Given the description of an element on the screen output the (x, y) to click on. 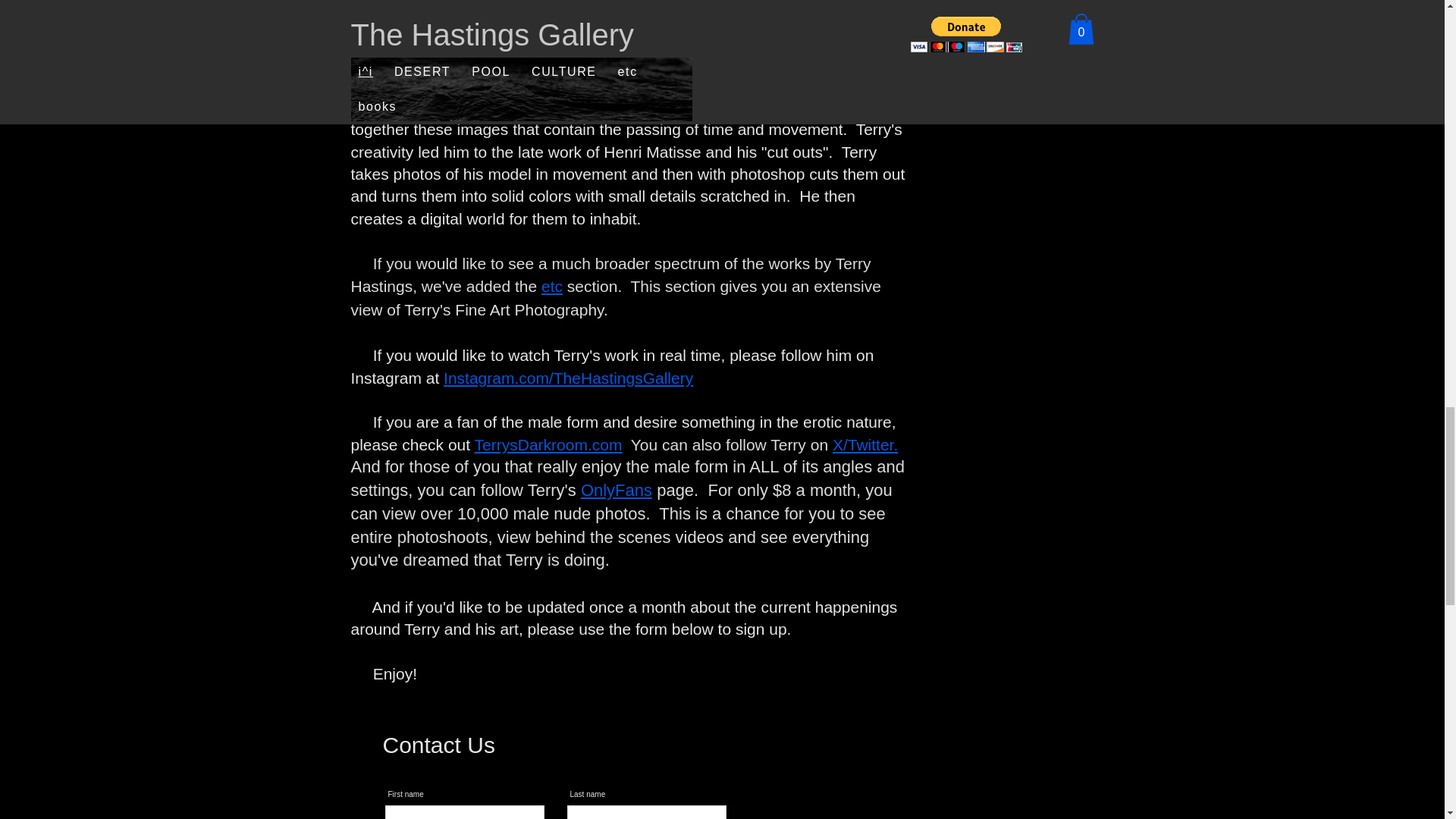
TerrysDarkroom.com (548, 444)
nlyFans (623, 489)
etc (551, 285)
